Given the description of an element on the screen output the (x, y) to click on. 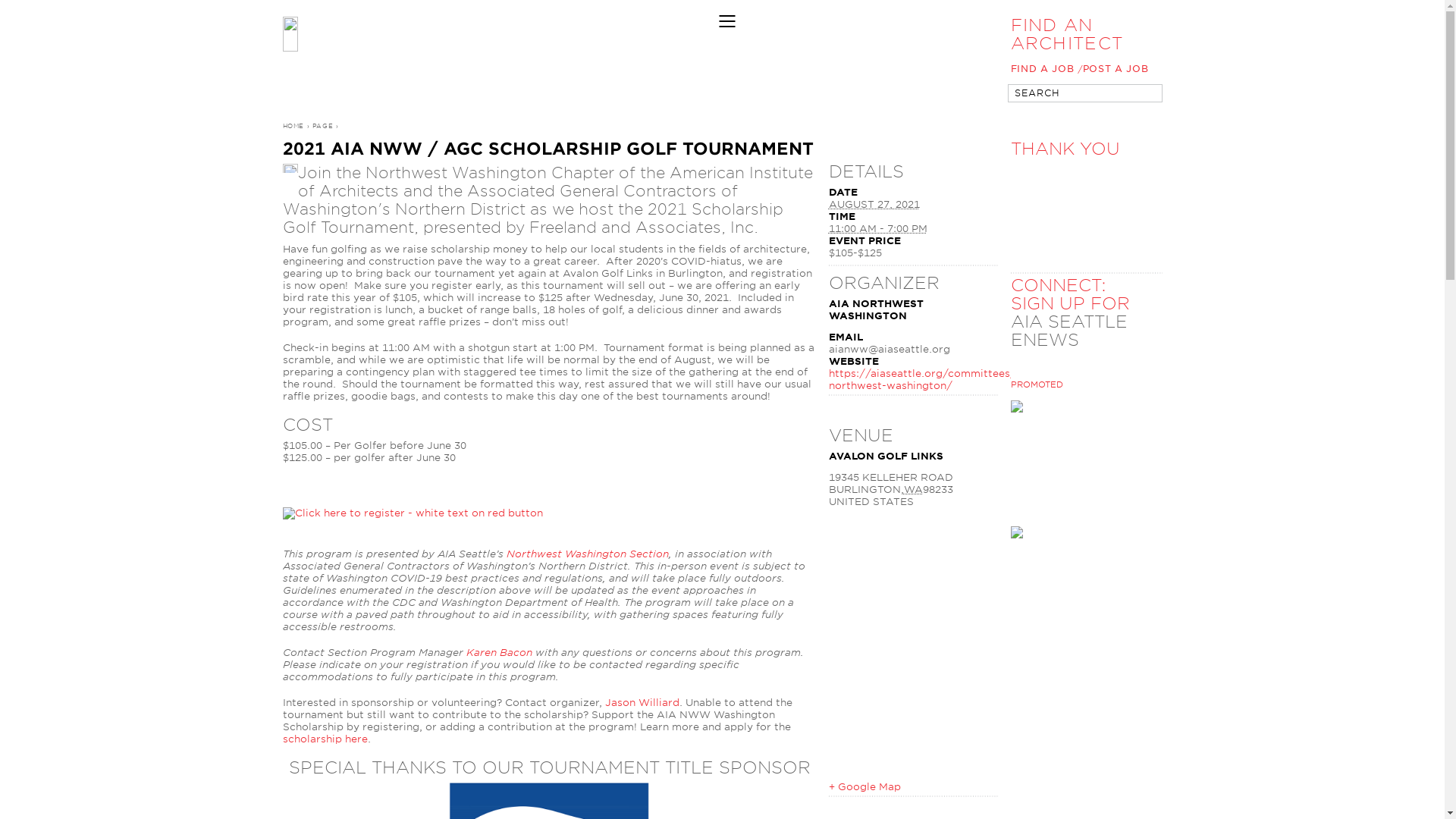
Washington (913, 490)
2021-08-27 (877, 228)
2021-08-27 (873, 204)
Search (1143, 93)
AIA Seattle (633, 33)
Click to view a Google Map (863, 786)
